Given the description of an element on the screen output the (x, y) to click on. 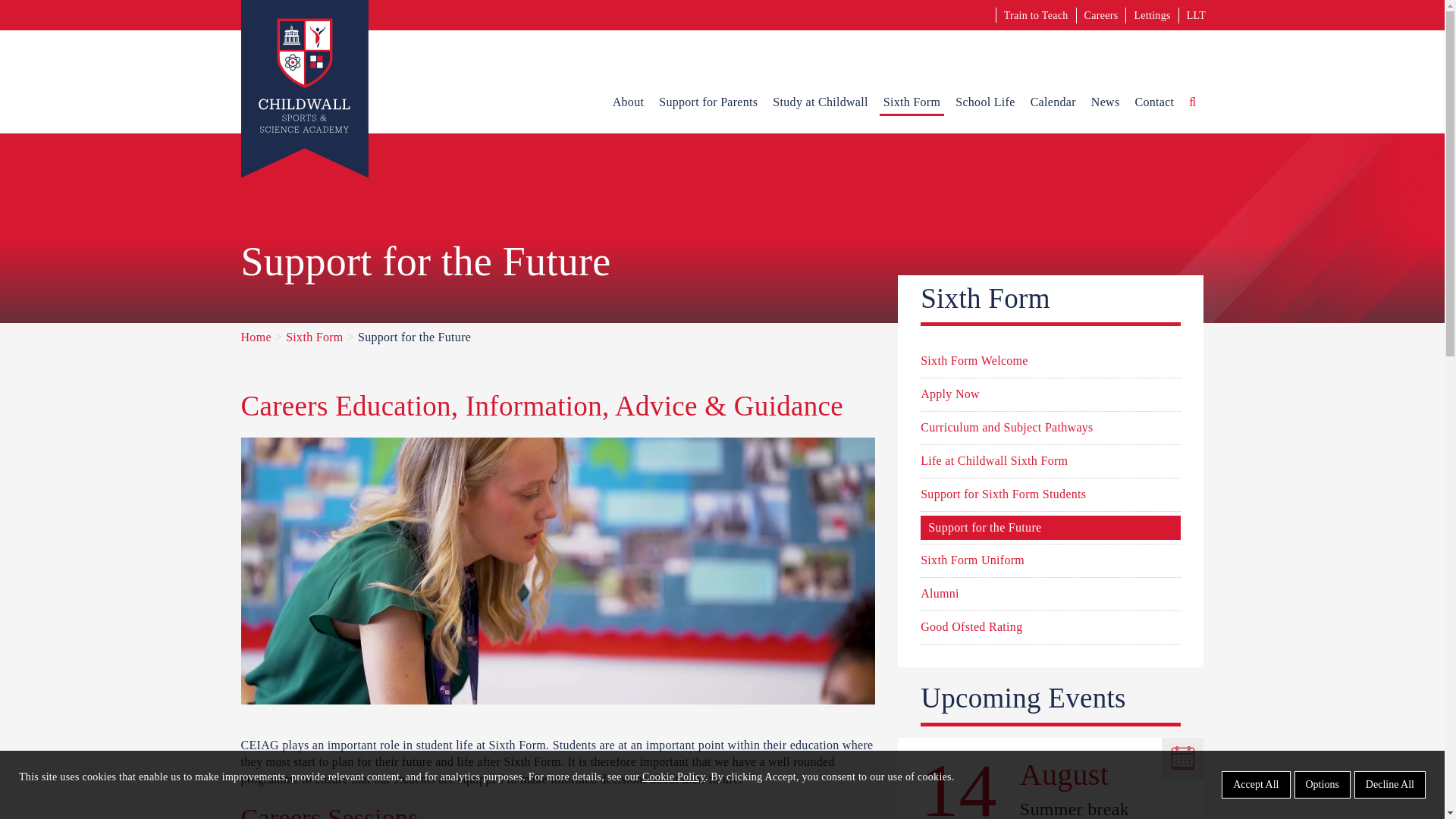
Train to Teach (1036, 15)
Lettings (1152, 15)
LLT (1195, 15)
Careers (1101, 15)
Support for Parents (708, 101)
About (627, 101)
